Given the description of an element on the screen output the (x, y) to click on. 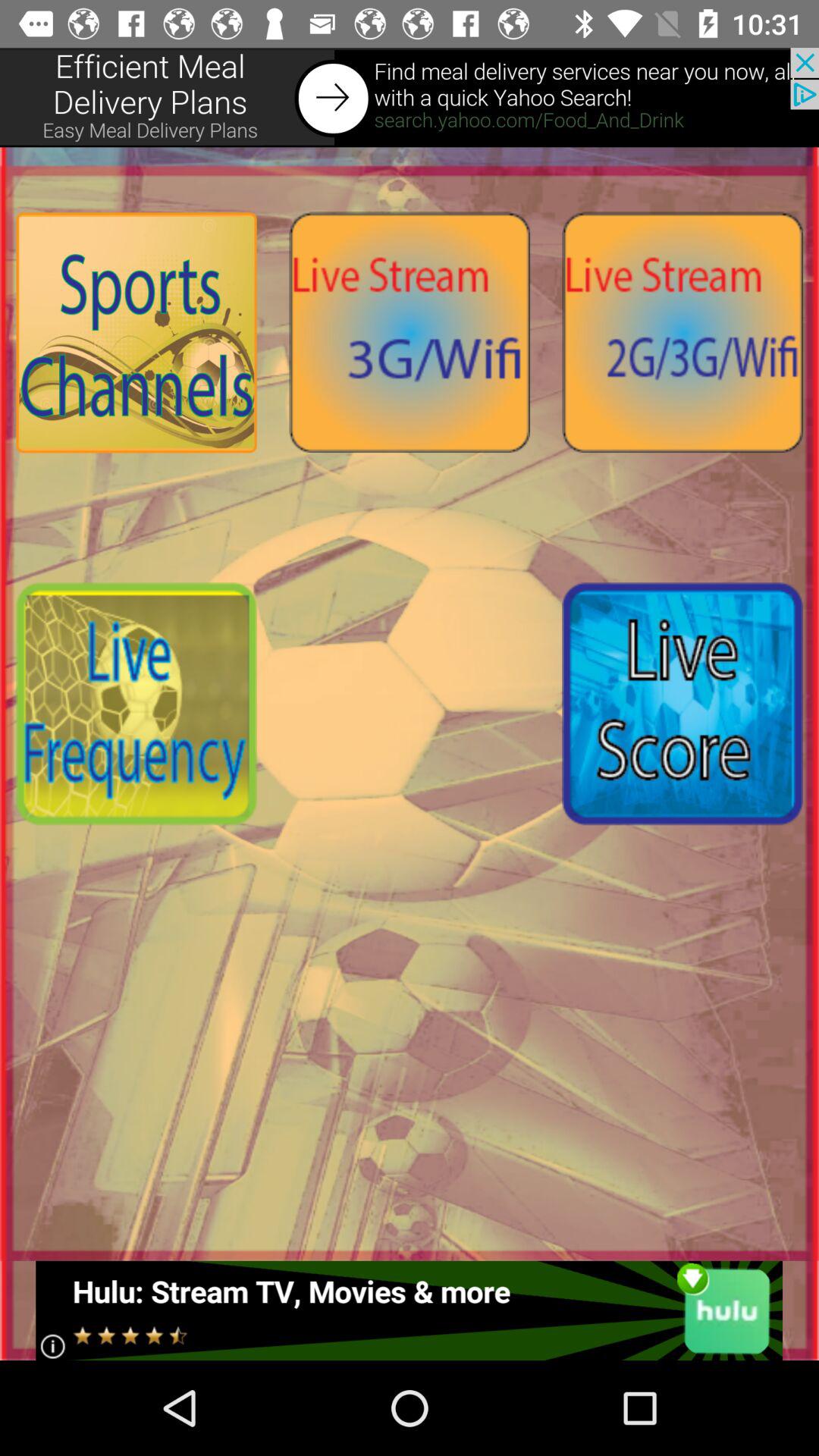
view sports channels (136, 332)
